Given the description of an element on the screen output the (x, y) to click on. 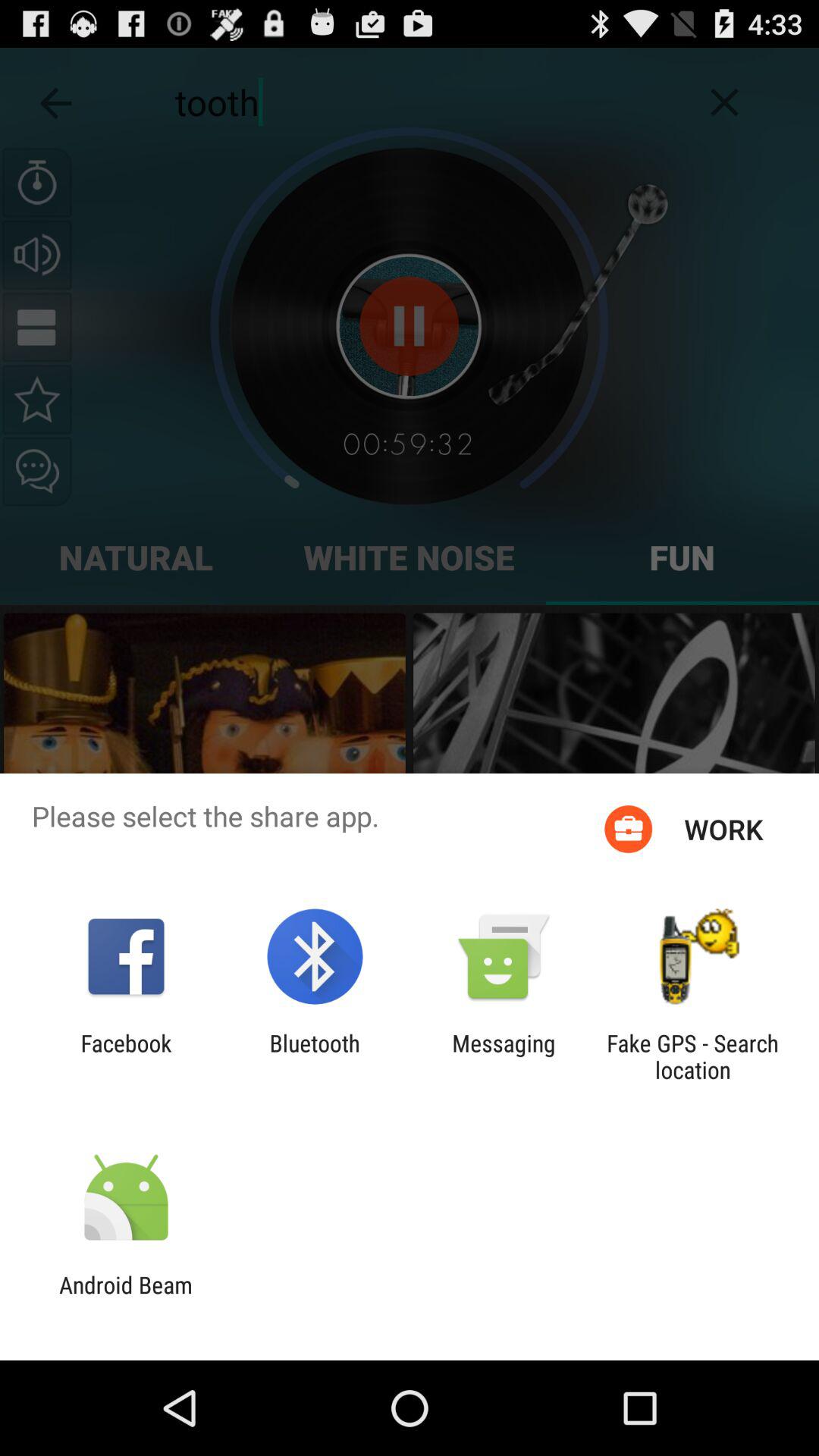
click the app next to bluetooth app (125, 1056)
